Given the description of an element on the screen output the (x, y) to click on. 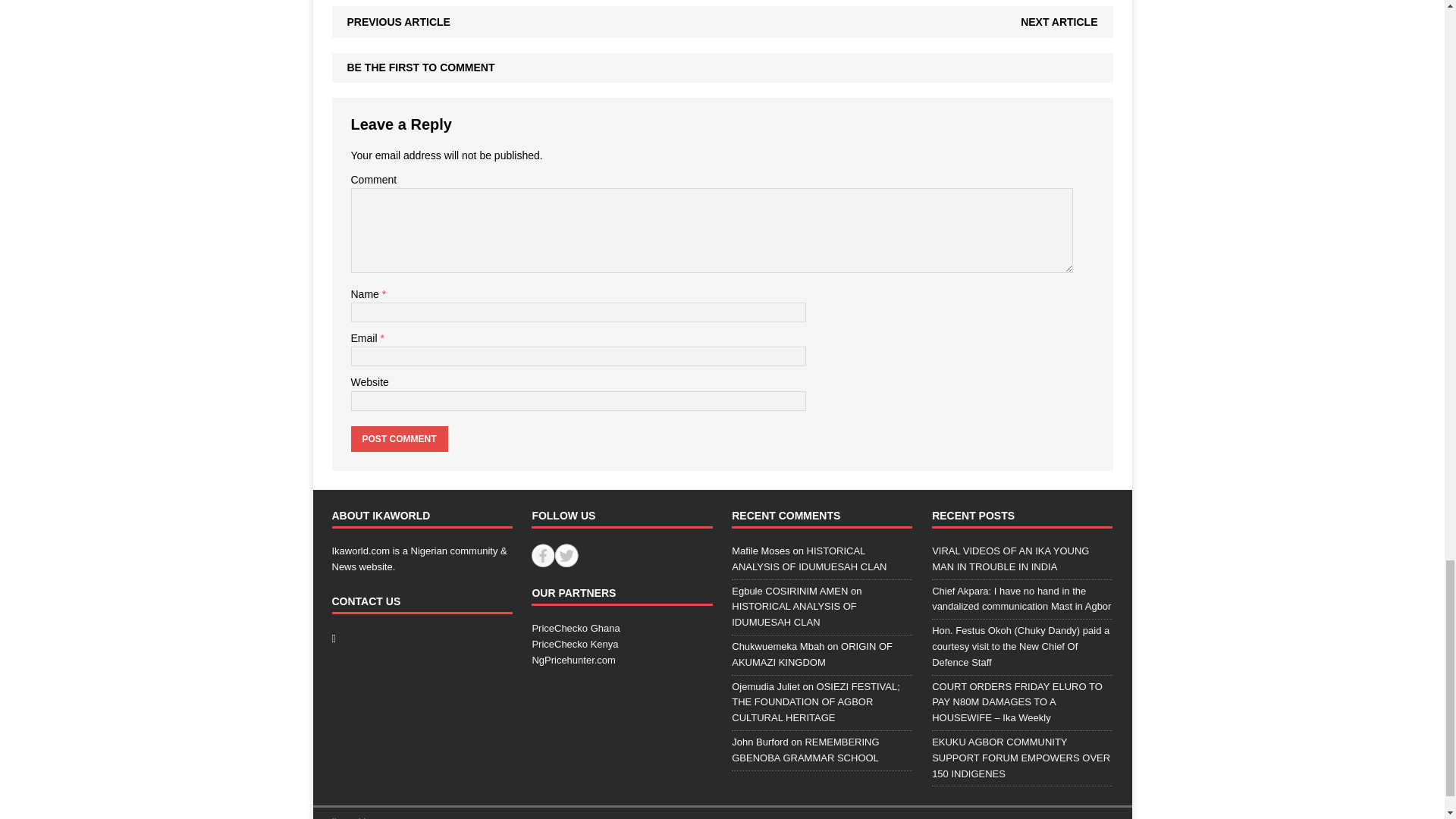
HISTORICAL ANALYSIS OF IDUMUESAH CLAN (794, 614)
PriceChecko Kenya (574, 644)
HISTORICAL ANALYSIS OF IDUMUESAH CLAN (809, 558)
Post Comment (398, 438)
Post Comment (398, 438)
NEXT ARTICLE (1058, 21)
PriceChecko Ghana (575, 627)
NgPricehunter.com (573, 659)
PREVIOUS ARTICLE (398, 21)
